Given the description of an element on the screen output the (x, y) to click on. 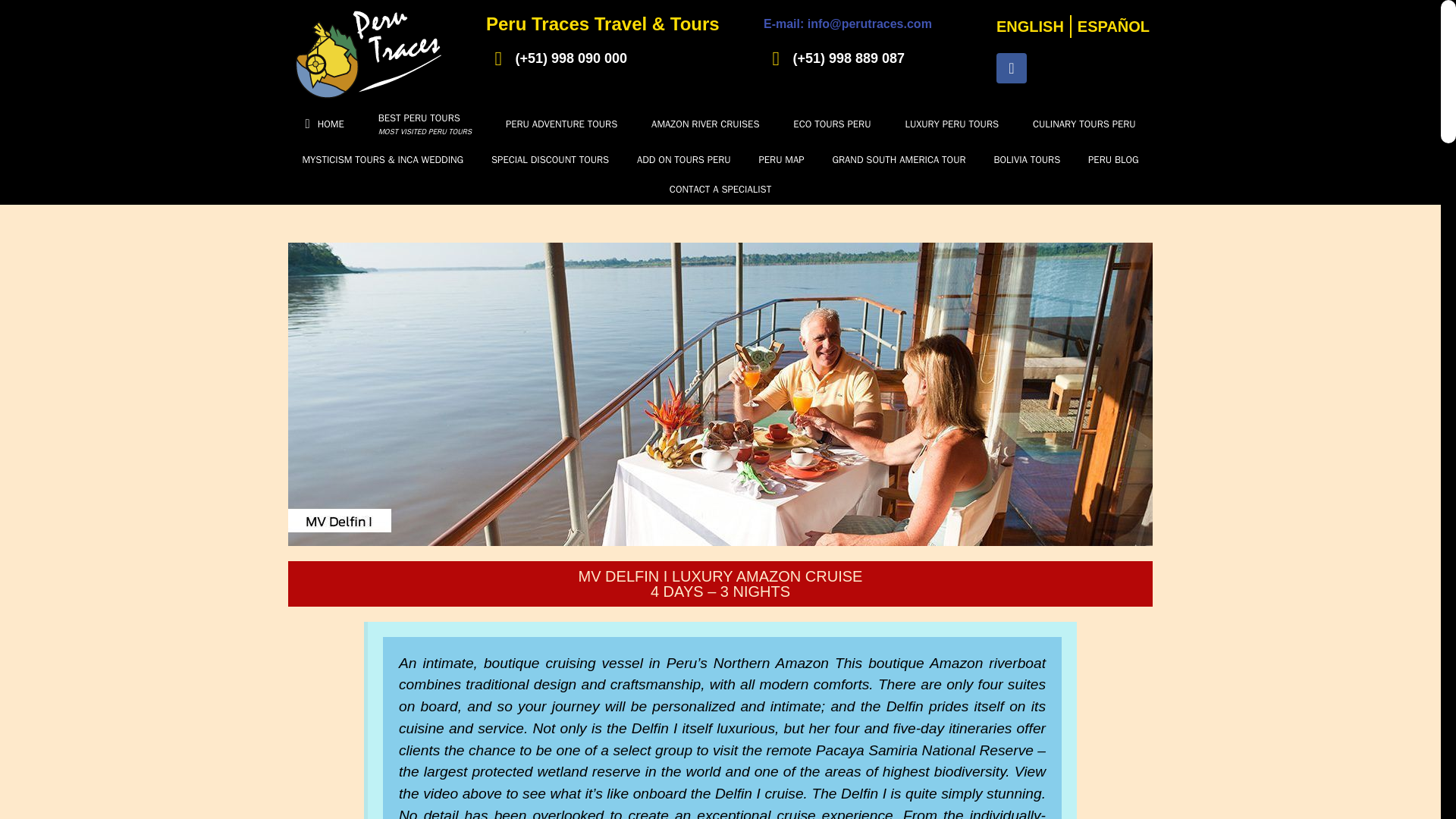
SPECIAL DISCOUNT TOURS (550, 159)
ADD ON TOURS PERU (684, 159)
CULINARY TOURS PERU (1084, 123)
PERU MAP (781, 159)
BOLIVIA TOURS (1026, 159)
CONTACT A SPECIALIST (720, 189)
PERU BLOG (1113, 159)
ECO TOURS PERU (424, 123)
PERU ADVENTURE TOURS (832, 123)
GRAND SOUTH AMERICA TOUR (560, 123)
AMAZON RIVER CRUISES (898, 159)
LUXURY PERU TOURS (705, 123)
HOME (952, 123)
ENGLISH (324, 123)
